Given the description of an element on the screen output the (x, y) to click on. 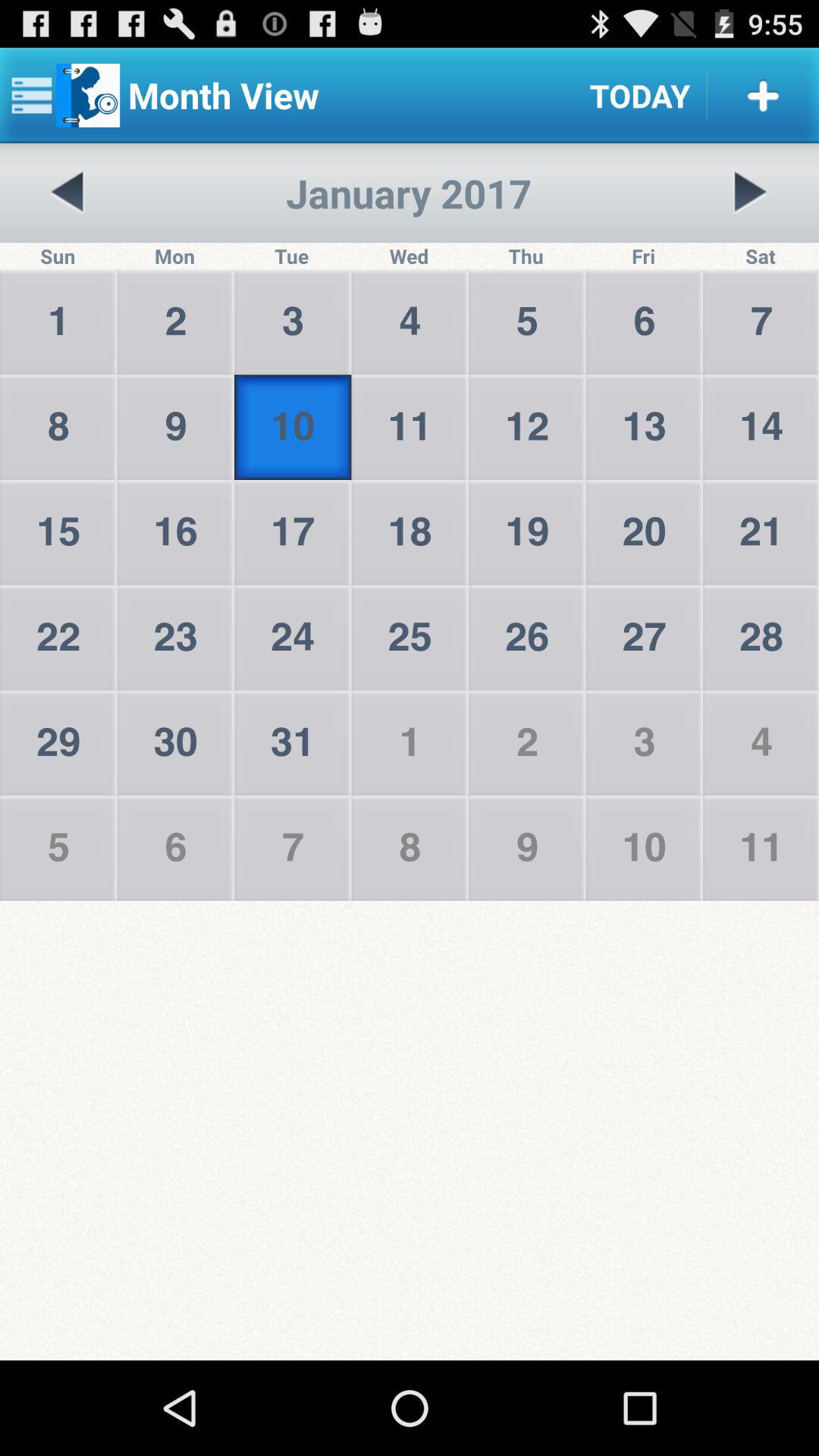
click the icon above sun (67, 192)
